Given the description of an element on the screen output the (x, y) to click on. 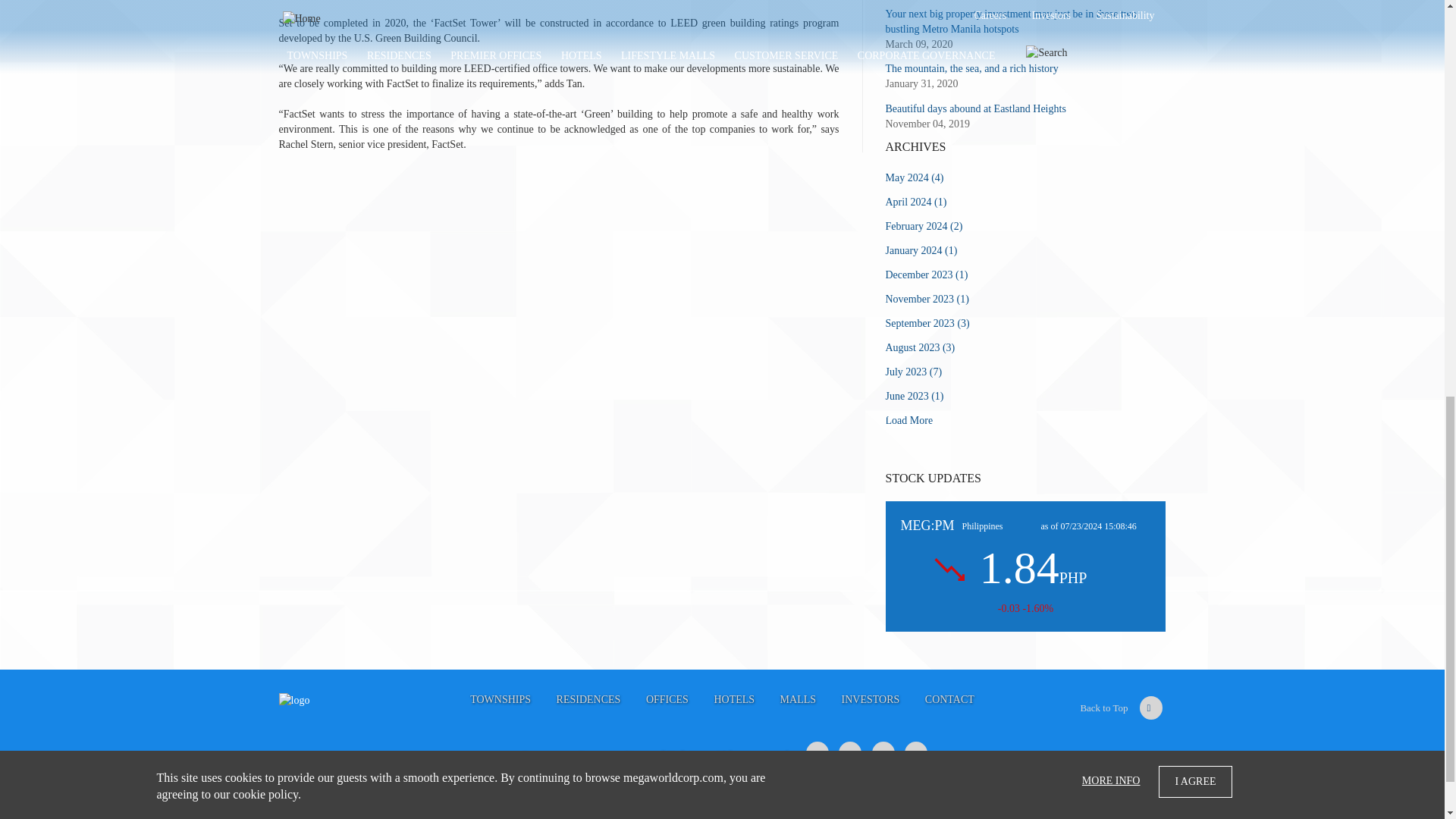
Go to next page (909, 420)
